Given the description of an element on the screen output the (x, y) to click on. 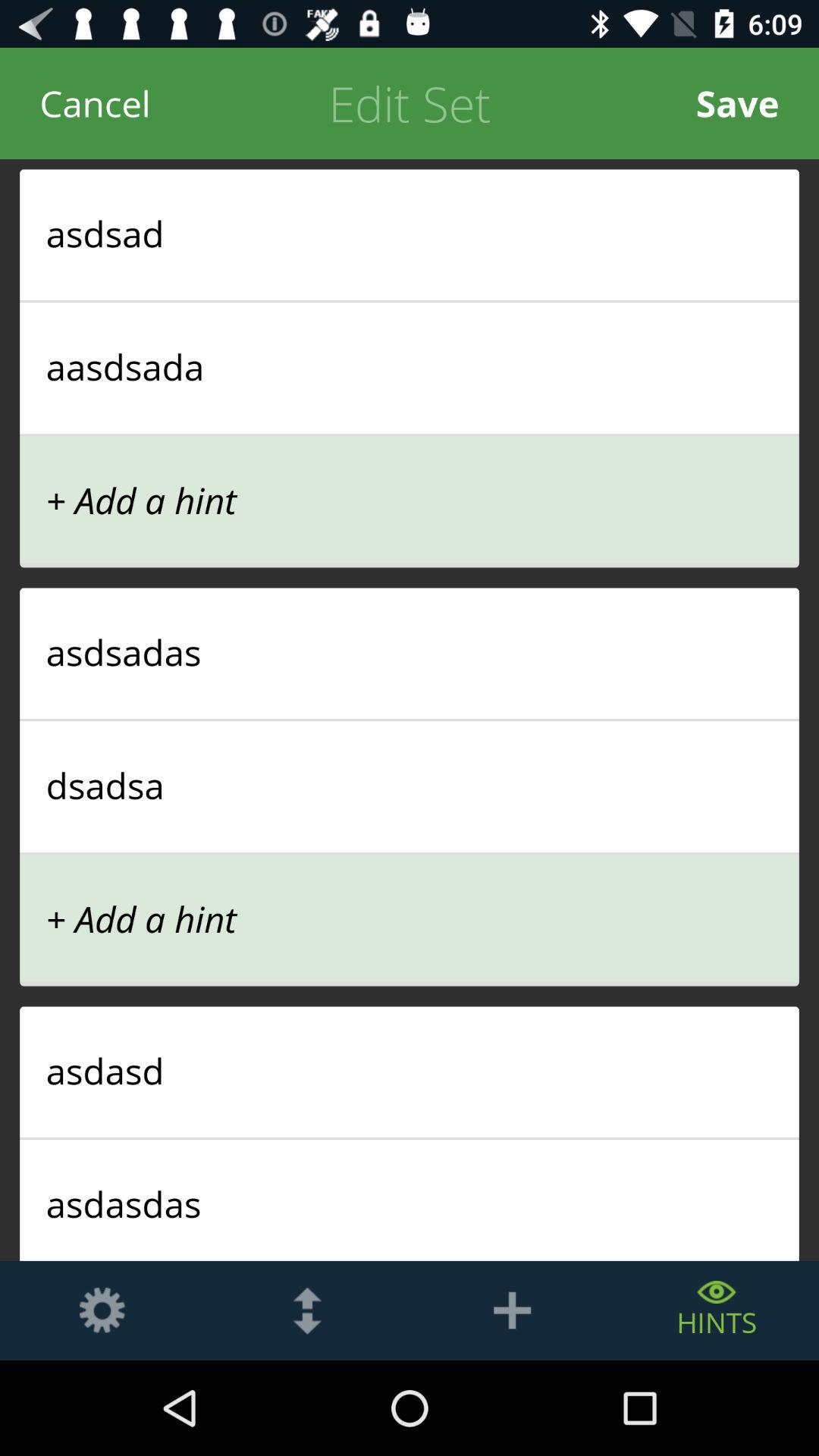
flip until the asdsad item (409, 233)
